Given the description of an element on the screen output the (x, y) to click on. 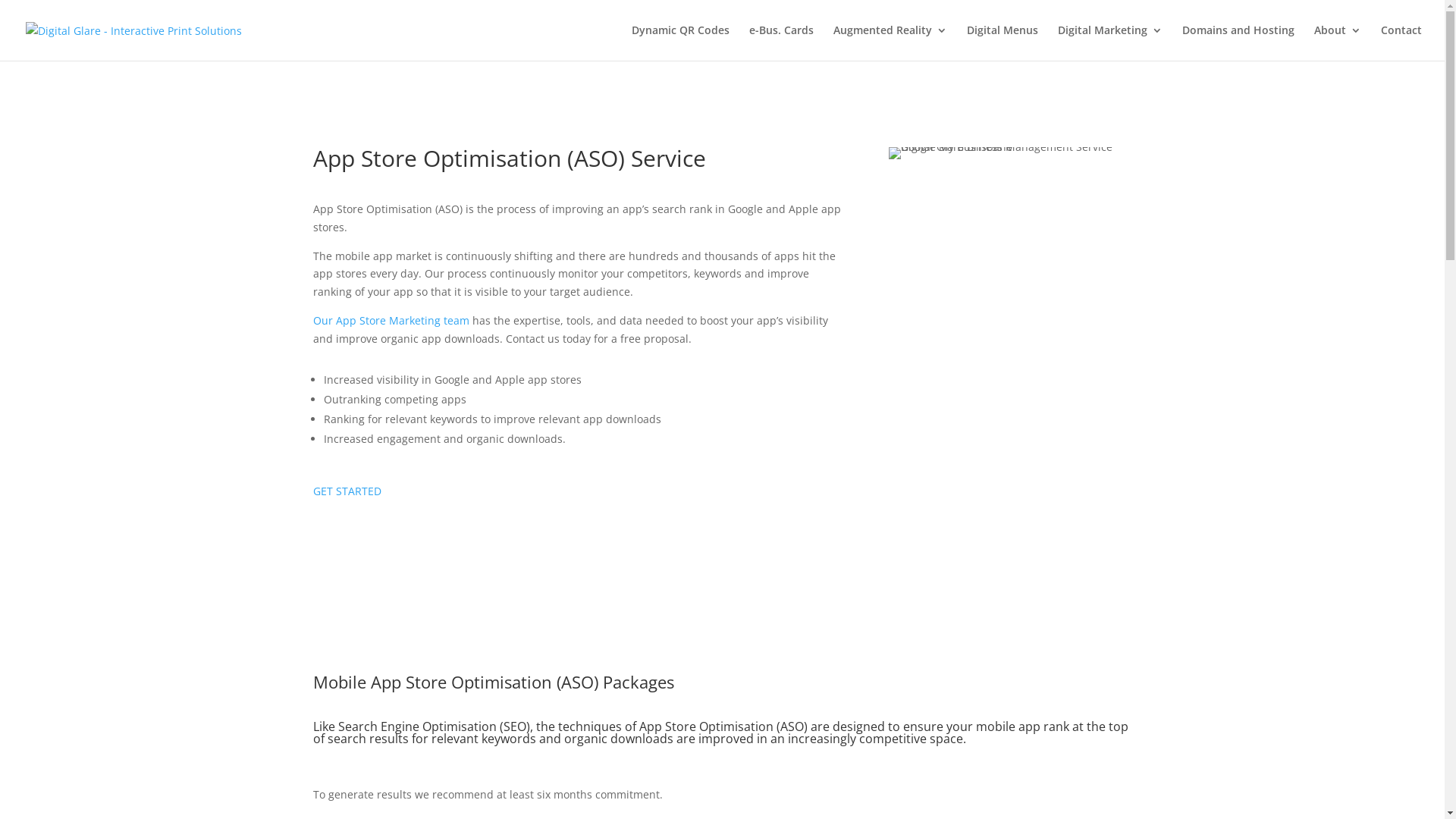
Digital Menus Element type: text (1002, 42)
Our App Store Marketing team Element type: text (390, 320)
e-Bus. Cards Element type: text (781, 42)
Domains and Hosting Element type: text (1238, 42)
Contact Element type: text (1400, 42)
Digital Marketing Element type: text (1109, 42)
Augmented Reality Element type: text (890, 42)
Search Engine Optimisation Element type: text (417, 726)
About Element type: text (1337, 42)
Dynamic QR Codes Element type: text (680, 42)
GET STARTED Element type: text (346, 490)
